Given the description of an element on the screen output the (x, y) to click on. 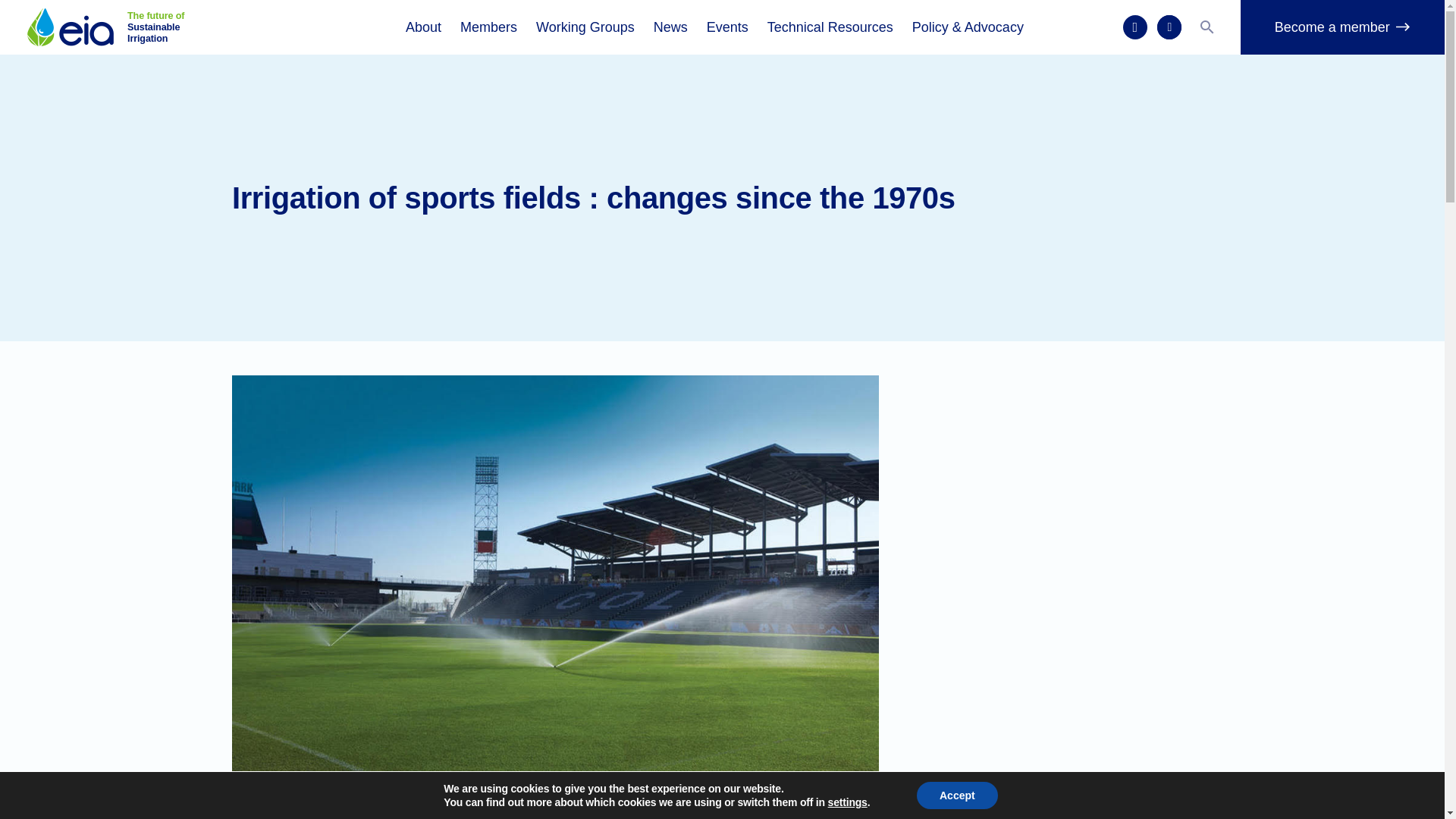
About (423, 27)
Accept (957, 795)
Technical Resources (830, 27)
Events (727, 27)
Working Groups (584, 27)
News (670, 27)
Members (488, 27)
Become a member (1342, 27)
settings (847, 802)
